Given the description of an element on the screen output the (x, y) to click on. 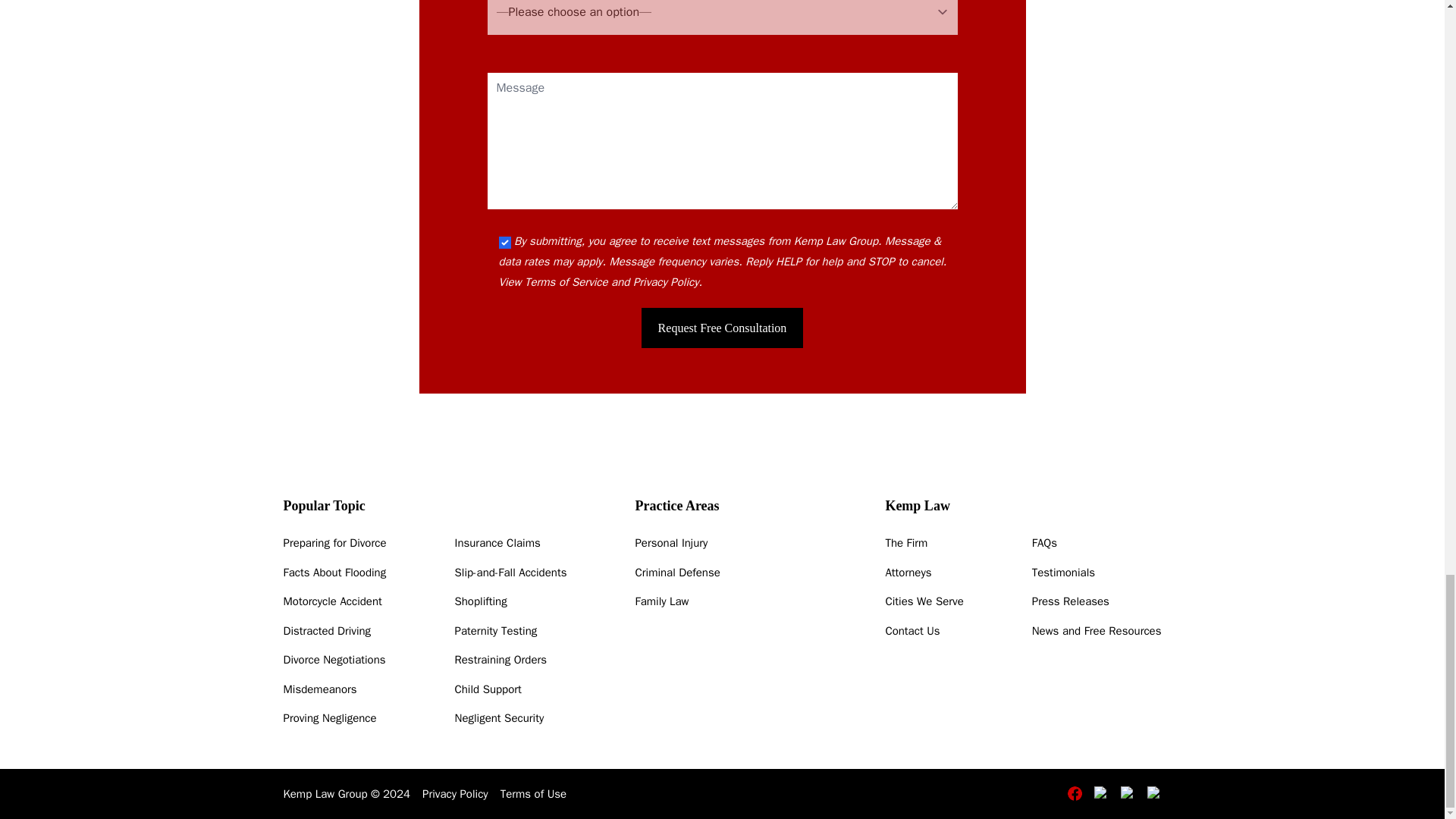
1 (505, 242)
Request Free Consultation (722, 327)
